Given the description of an element on the screen output the (x, y) to click on. 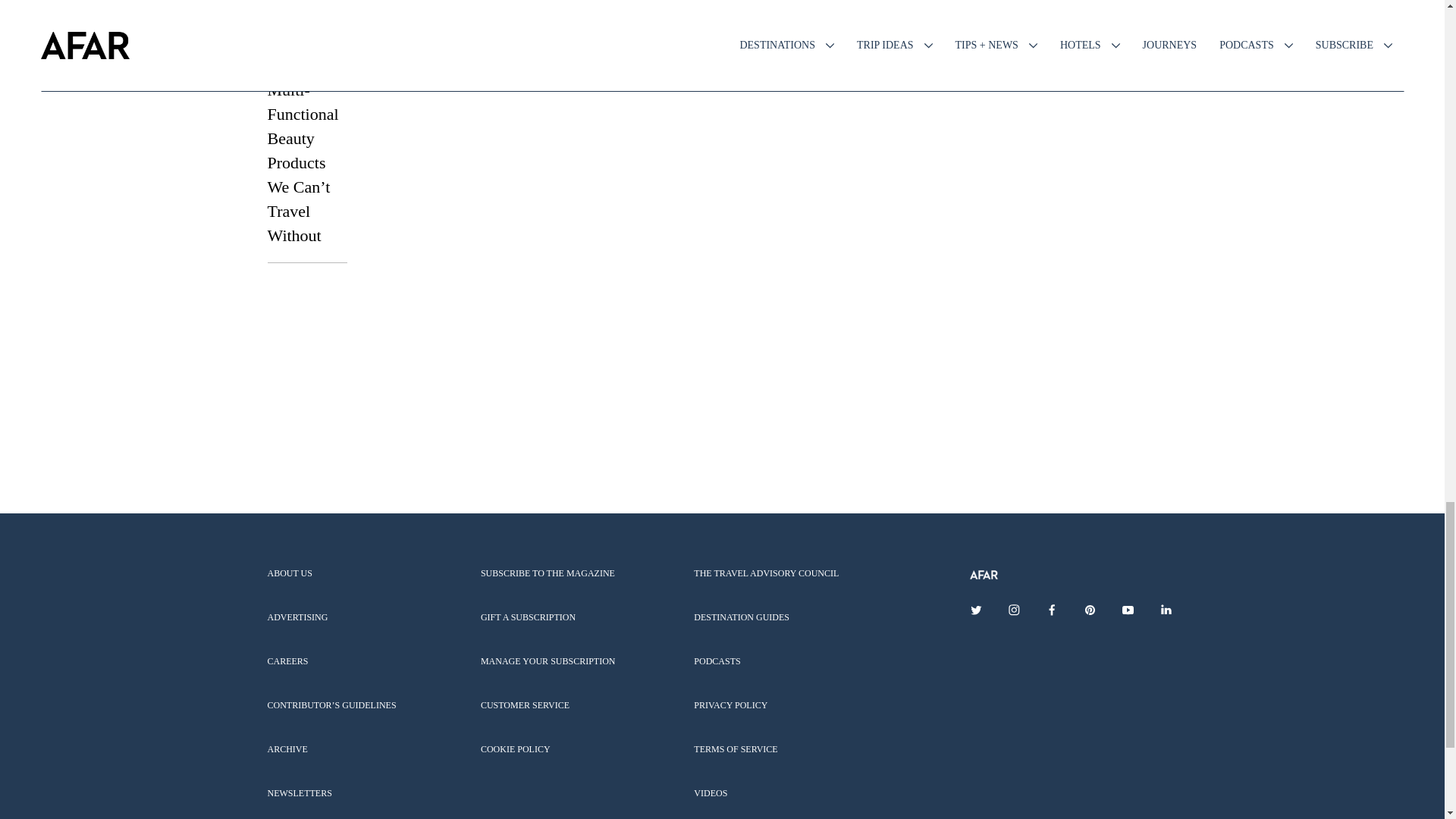
52 Unexpected Places to Go in the USA (306, 11)
3rd party ad content (721, 418)
